Given the description of an element on the screen output the (x, y) to click on. 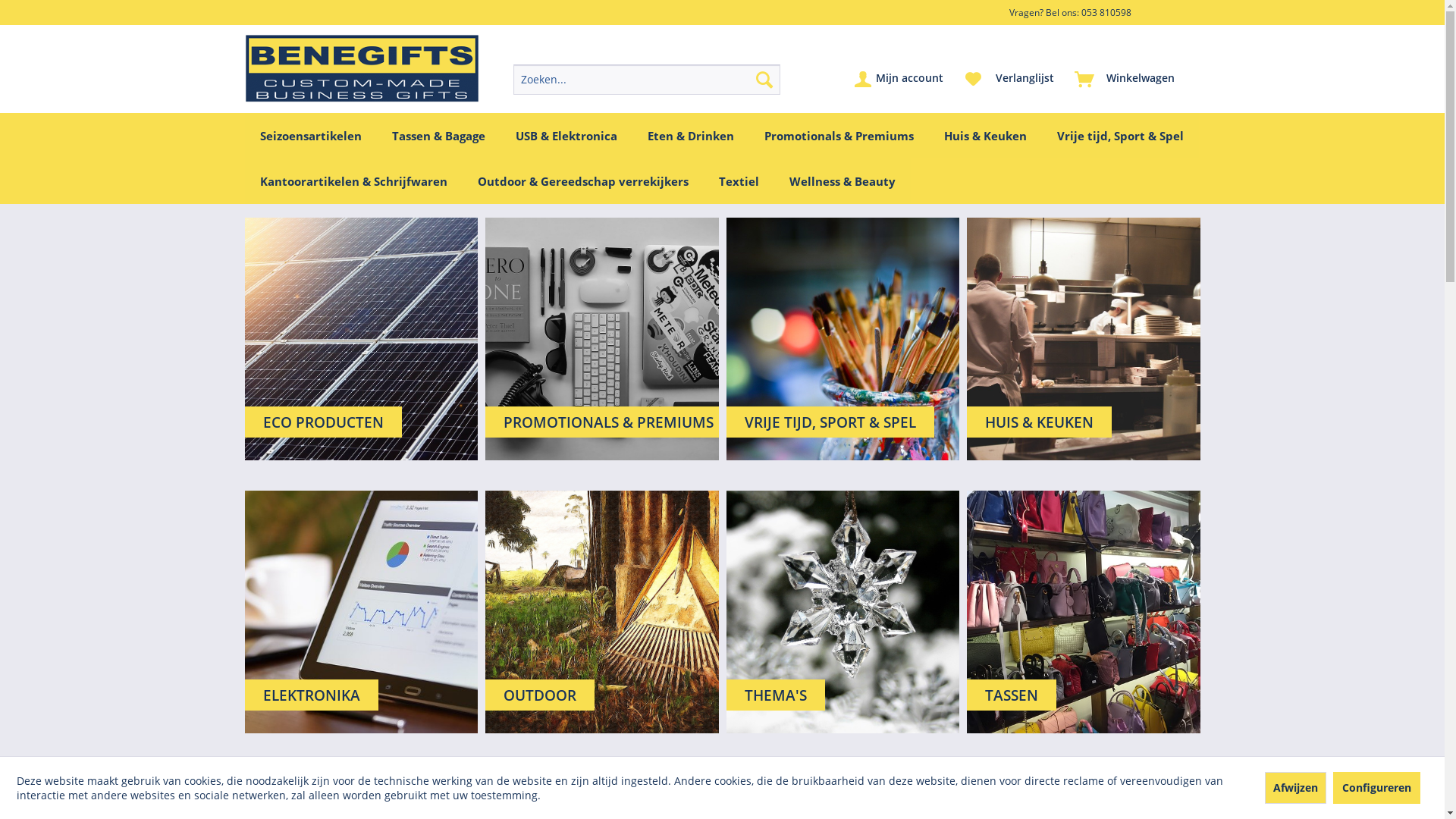
Textiel Element type: text (738, 180)
Promotionals & Premiums Element type: text (838, 135)
Mijn account Element type: text (898, 79)
Vrije tijd, Sport & Spel Element type: text (1119, 135)
THEMA'S Element type: text (843, 611)
Tassen & Bagage Element type: text (437, 135)
ELEKTRONIKA Element type: text (360, 611)
USB & Elektronica Element type: text (566, 135)
ECO PRODUCTEN Element type: text (360, 338)
OUTDOOR Element type: text (601, 611)
Wellness & Beauty Element type: text (841, 180)
Verlanglijst Element type: text (1008, 79)
Benegifts - Naar de startpagina gaan Element type: hover (361, 68)
Eten & Drinken Element type: text (690, 135)
Kantoorartikelen & Schrijfwaren Element type: text (352, 180)
Seizoensartikelen Element type: text (310, 135)
Configureren Element type: text (1376, 787)
Huis & Keuken Element type: text (984, 135)
PROMOTIONALS & PREMIUMS Element type: text (601, 338)
Winkelwagen Element type: text (1124, 79)
Afwijzen Element type: text (1295, 787)
TASSEN Element type: text (1083, 611)
HUIS & KEUKEN Element type: text (1083, 338)
VRIJE TIJD, SPORT & SPEL Element type: text (843, 338)
Outdoor & Gereedschap verrekijkers Element type: text (582, 180)
